Given the description of an element on the screen output the (x, y) to click on. 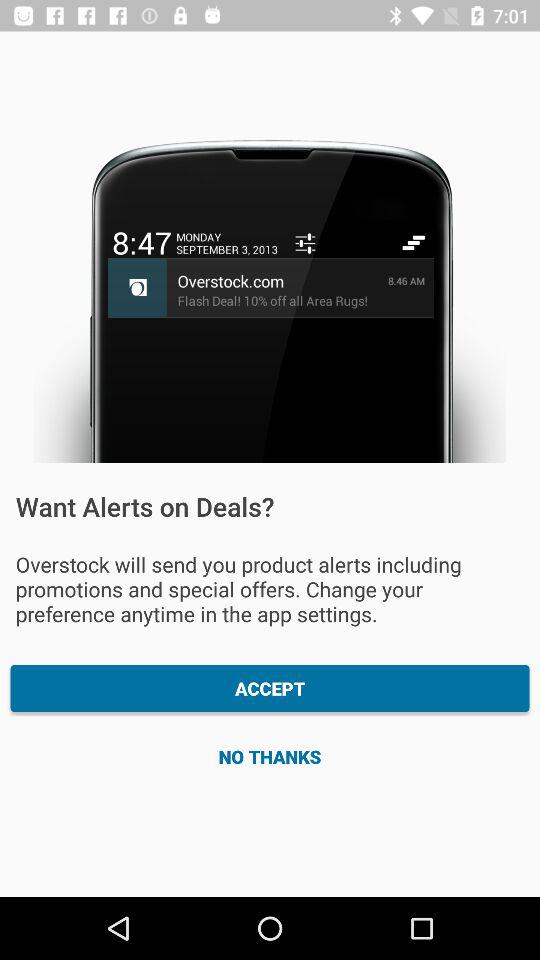
turn on no thanks item (269, 756)
